Given the description of an element on the screen output the (x, y) to click on. 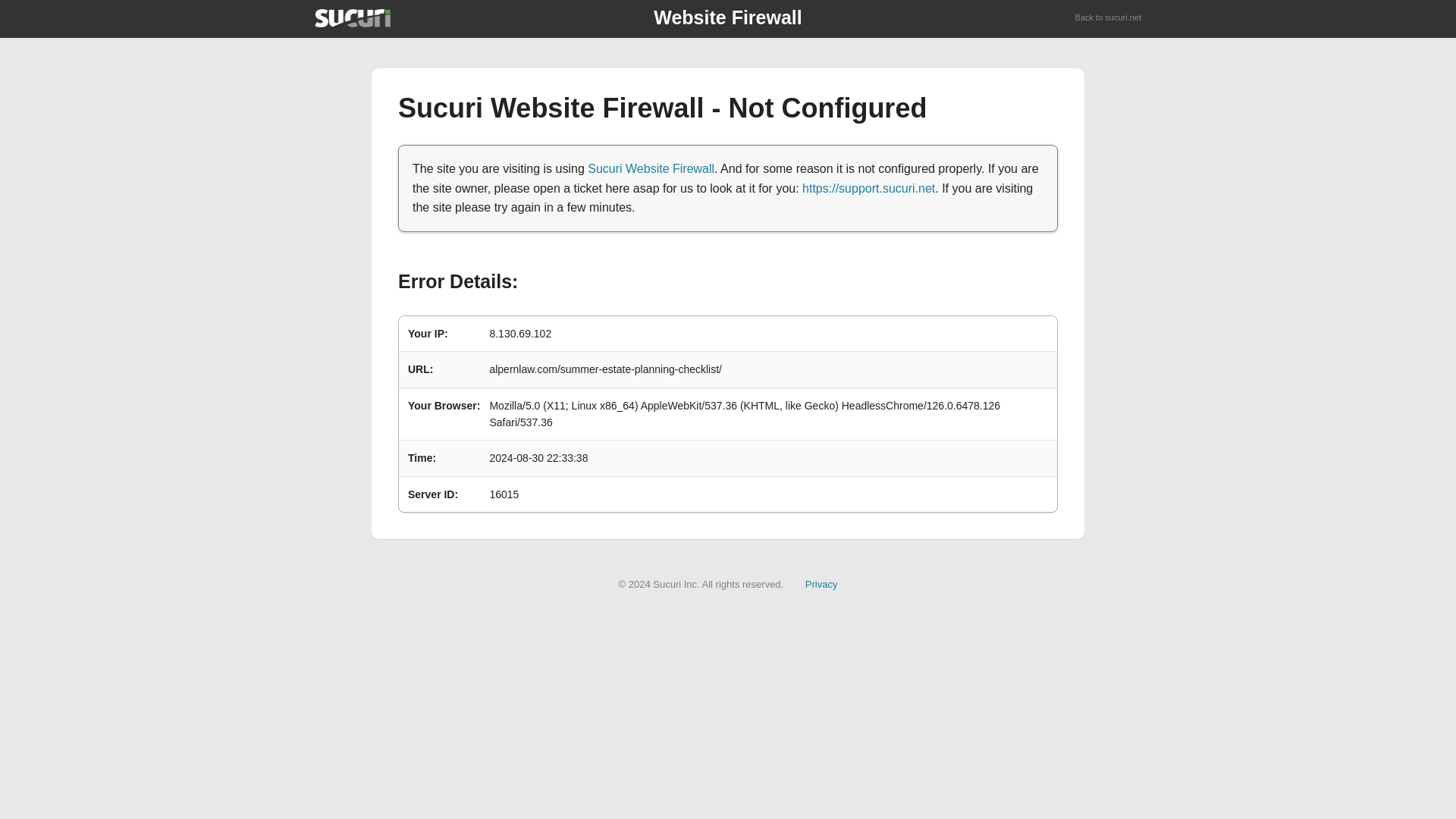
Back to sucuri.net (1108, 18)
Privacy (821, 583)
Sucuri Website Firewall (651, 168)
